Given the description of an element on the screen output the (x, y) to click on. 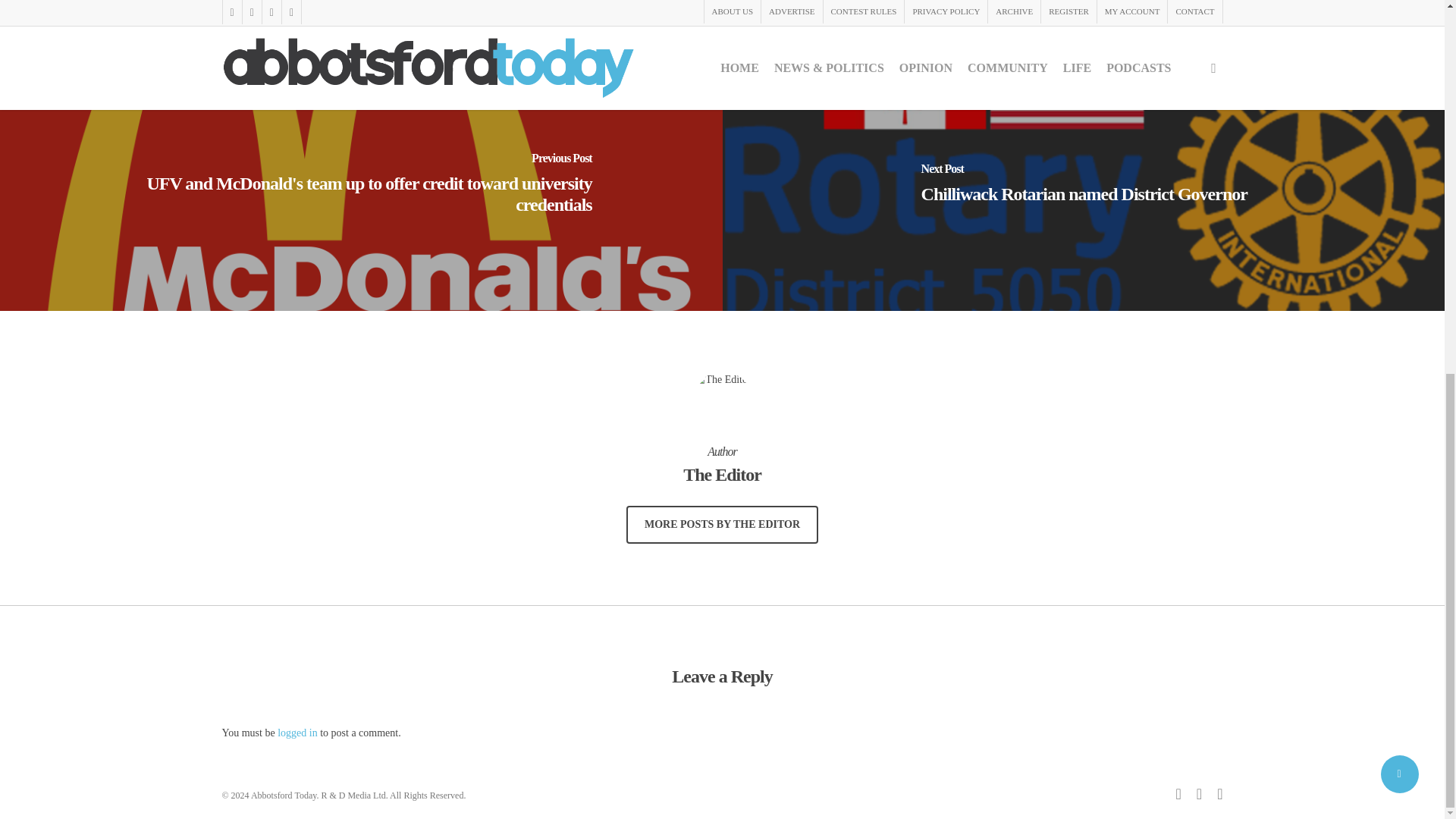
MORE POSTS BY THE EDITOR (722, 524)
logged in (297, 732)
